Given the description of an element on the screen output the (x, y) to click on. 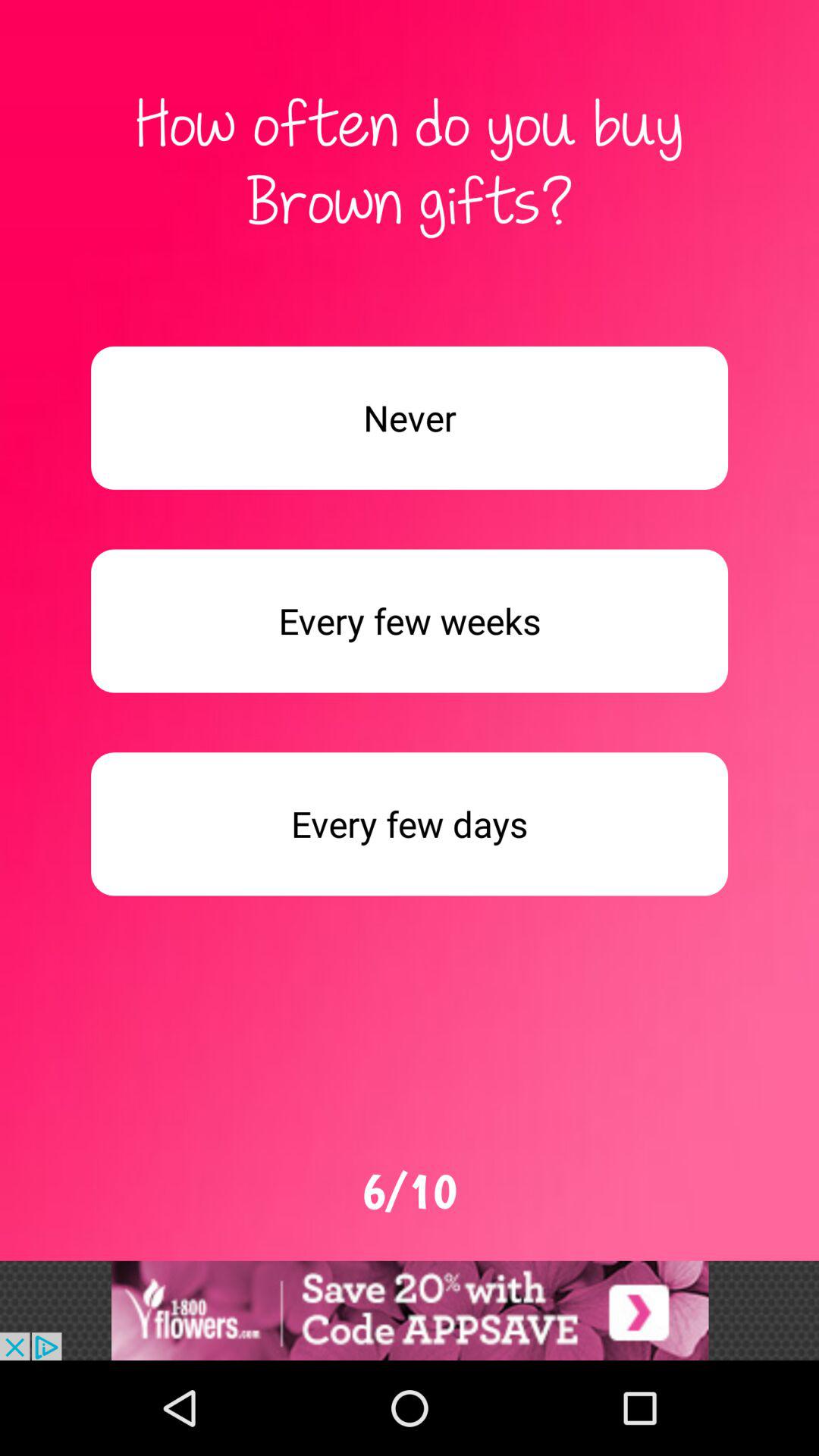
go to add (409, 1310)
